Given the description of an element on the screen output the (x, y) to click on. 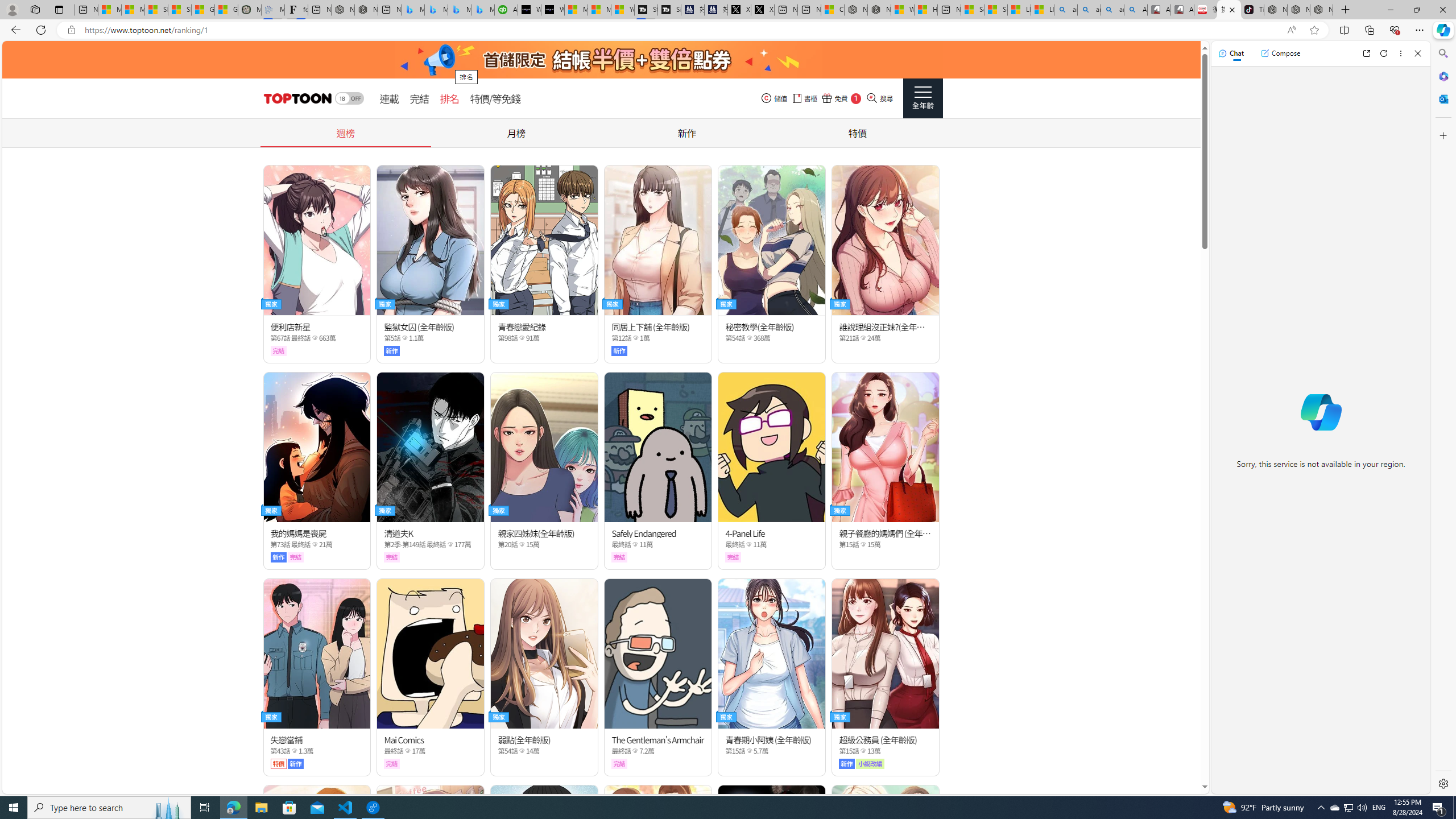
Amazon Echo Robot - Search Images (1135, 9)
Chat (1231, 52)
Side bar (1443, 418)
